Given the description of an element on the screen output the (x, y) to click on. 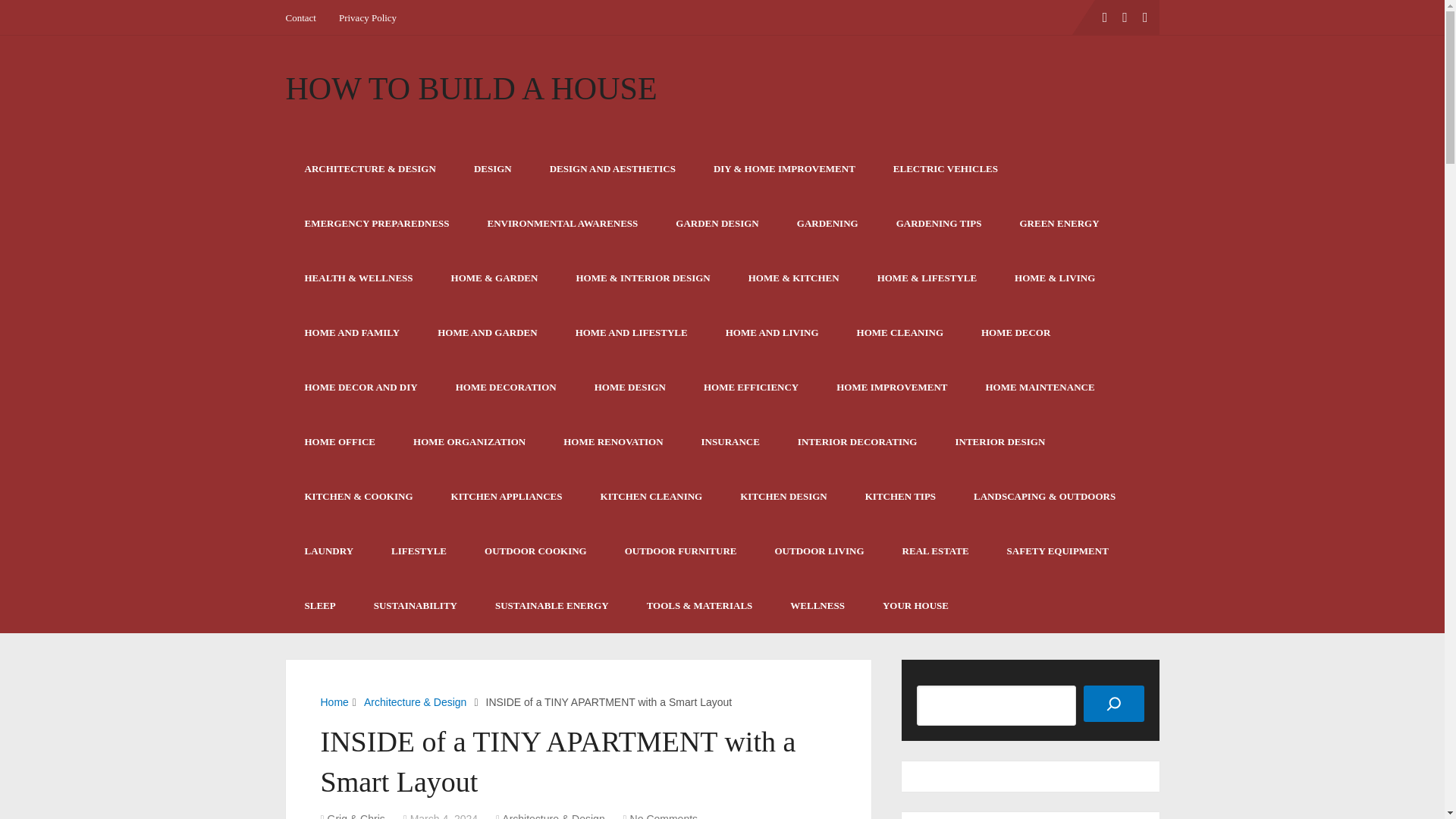
Contact (305, 17)
HOW TO BUILD A HOUSE (470, 88)
Privacy Policy (367, 17)
